Given the description of an element on the screen output the (x, y) to click on. 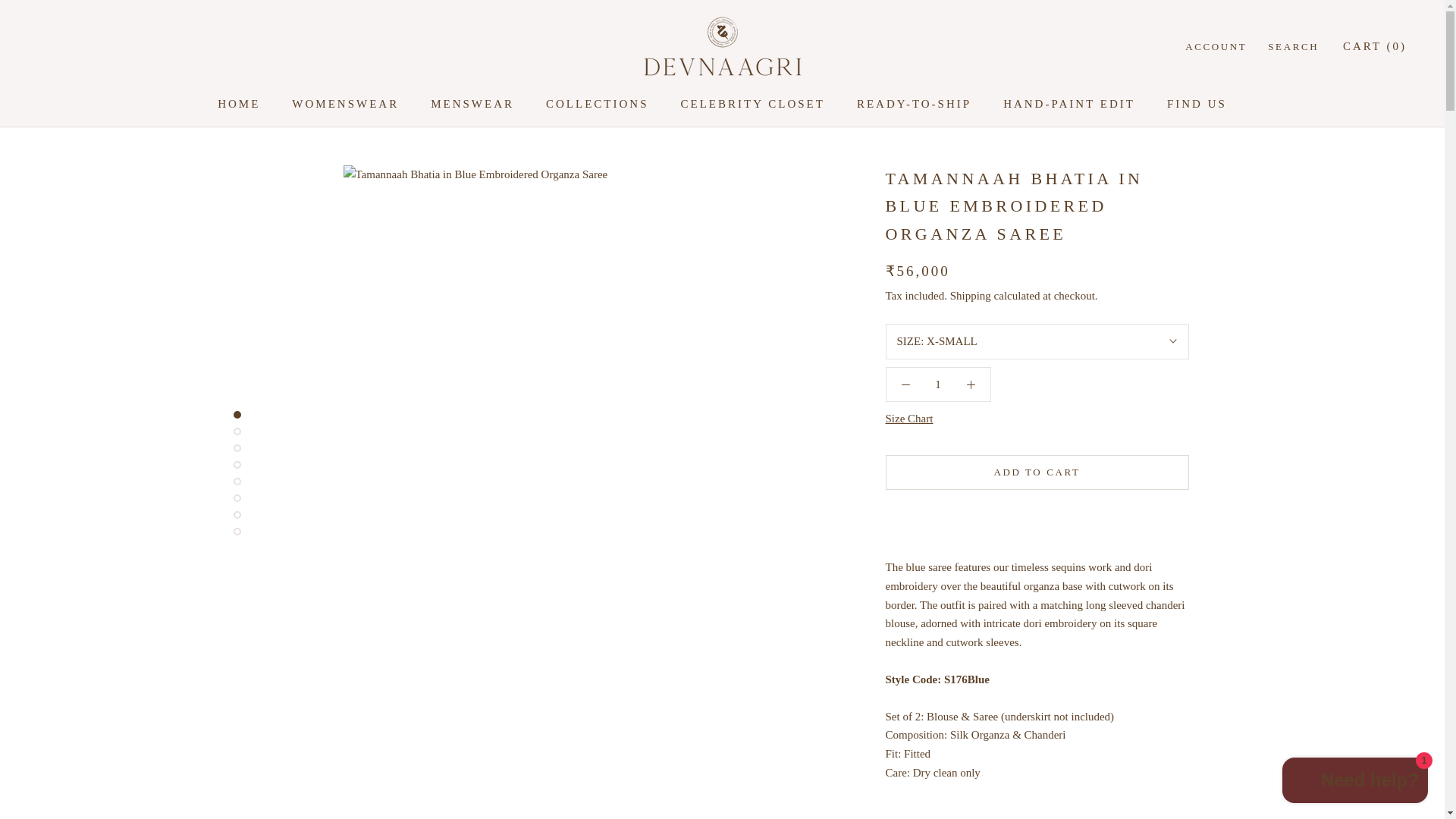
Shopify online store chat (1355, 781)
1 (238, 103)
WOMENSWEAR (938, 384)
